Given the description of an element on the screen output the (x, y) to click on. 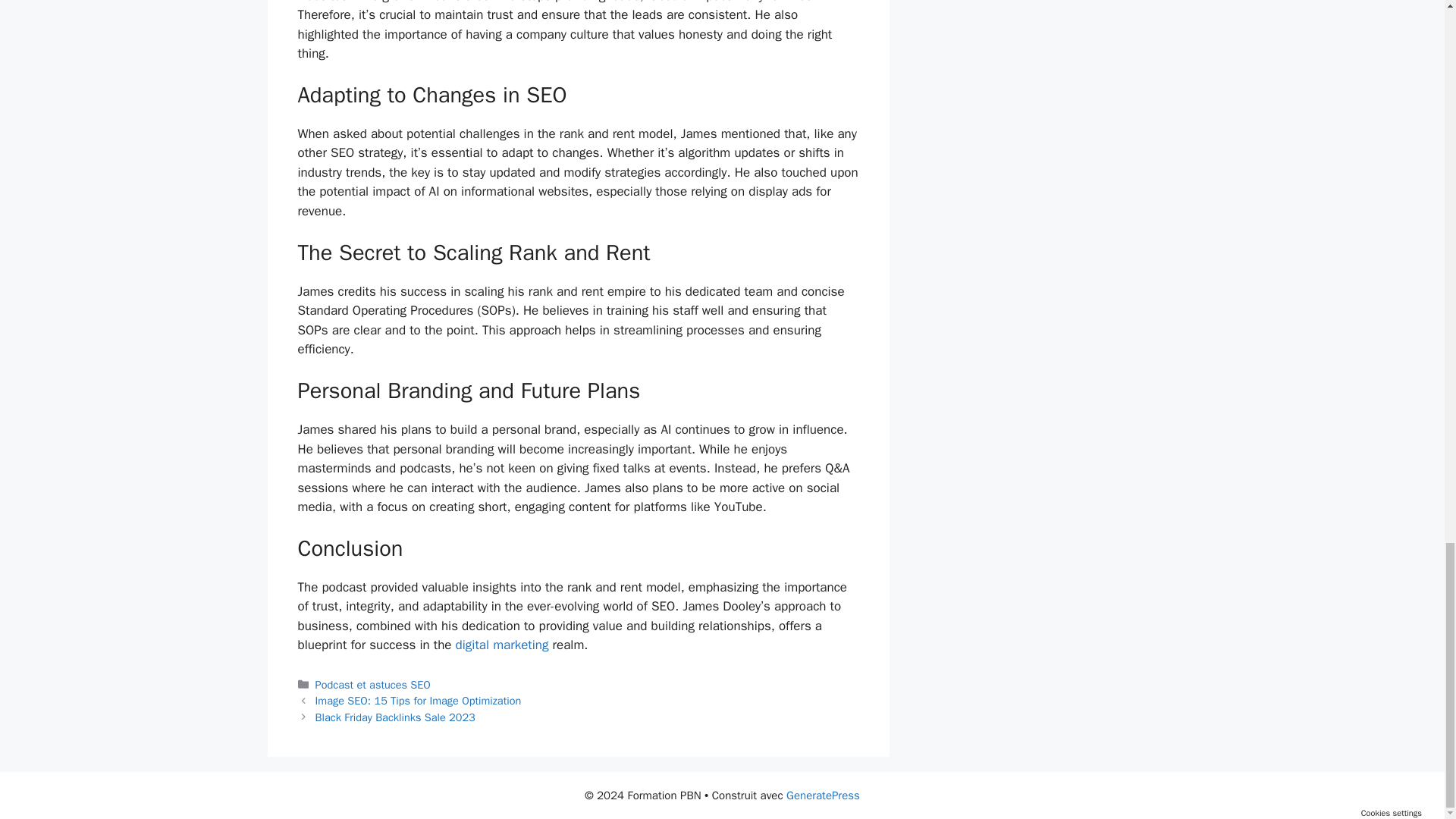
Podcast et astuces SEO (372, 684)
Image SEO: 15 Tips for Image Optimization (418, 700)
Suivant (395, 716)
GeneratePress (823, 795)
digital marketing (501, 644)
Black Friday Backlinks Sale 2023 (395, 716)
